Given the description of an element on the screen output the (x, y) to click on. 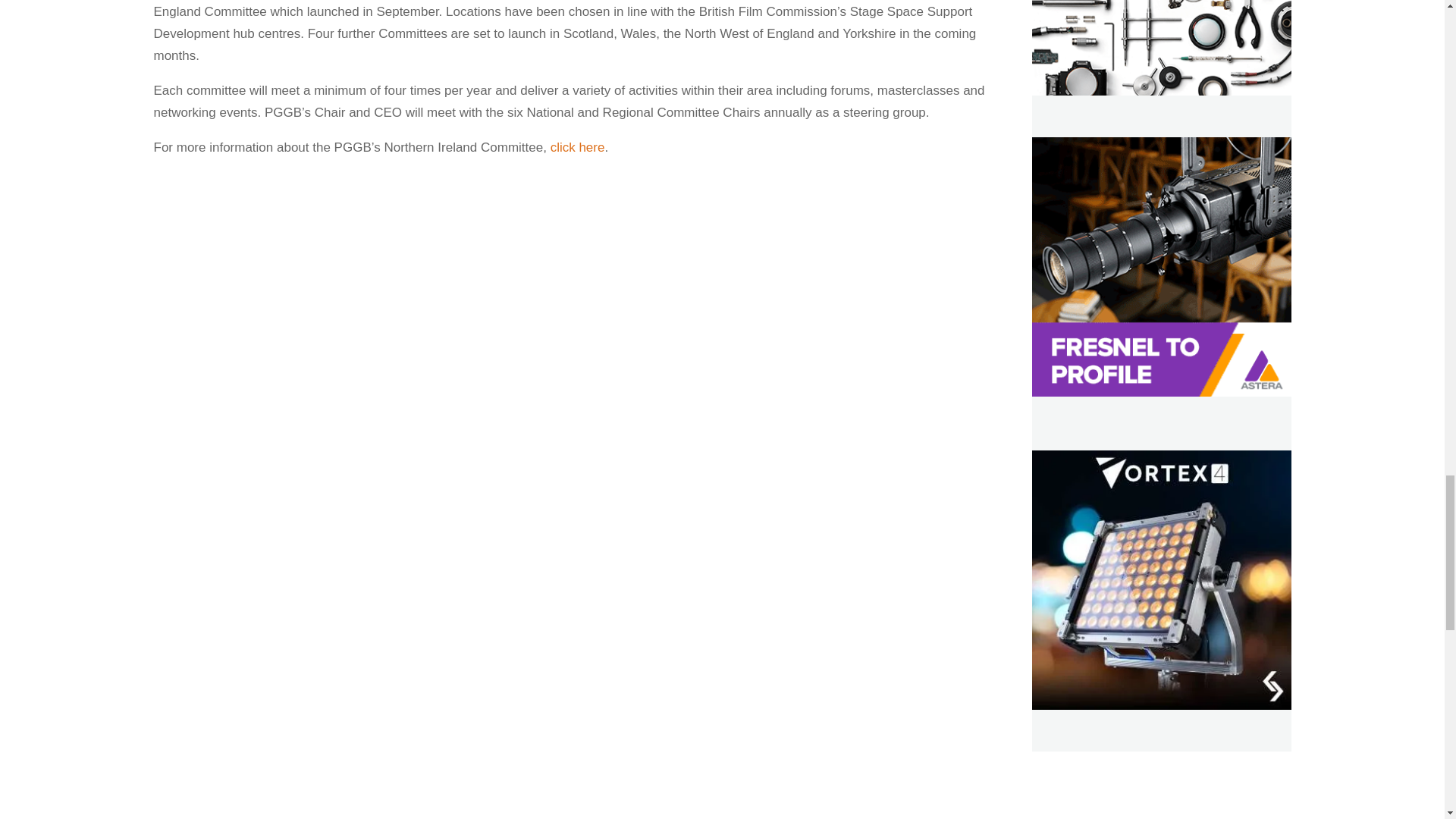
click here (577, 147)
